Given the description of an element on the screen output the (x, y) to click on. 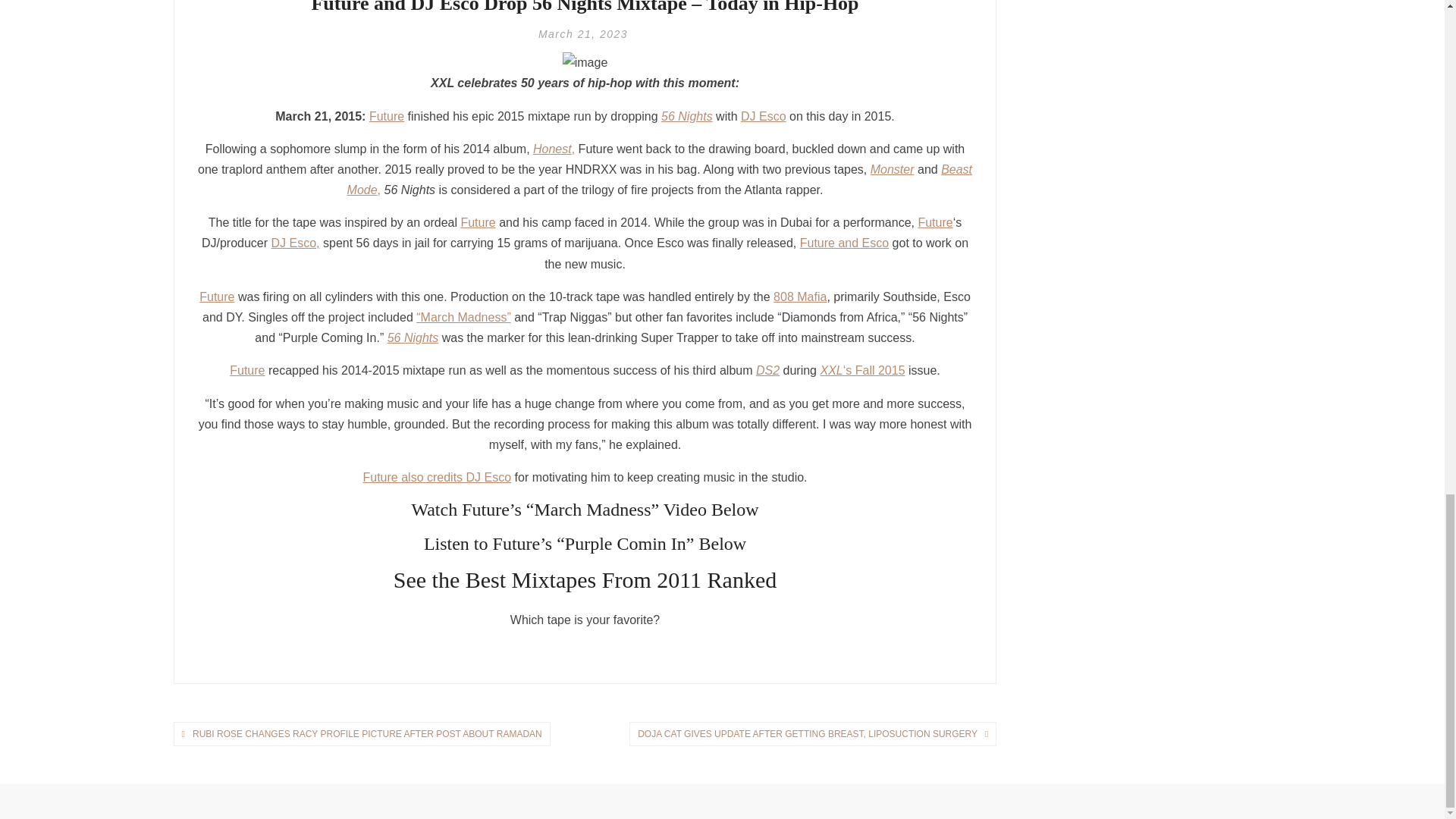
Future (247, 369)
DJ Esco (763, 115)
56 Nights (687, 115)
Future and Esco (843, 242)
Future (477, 222)
Future (216, 296)
Future (386, 115)
Monster (892, 169)
DS2 (766, 369)
